Given the description of an element on the screen output the (x, y) to click on. 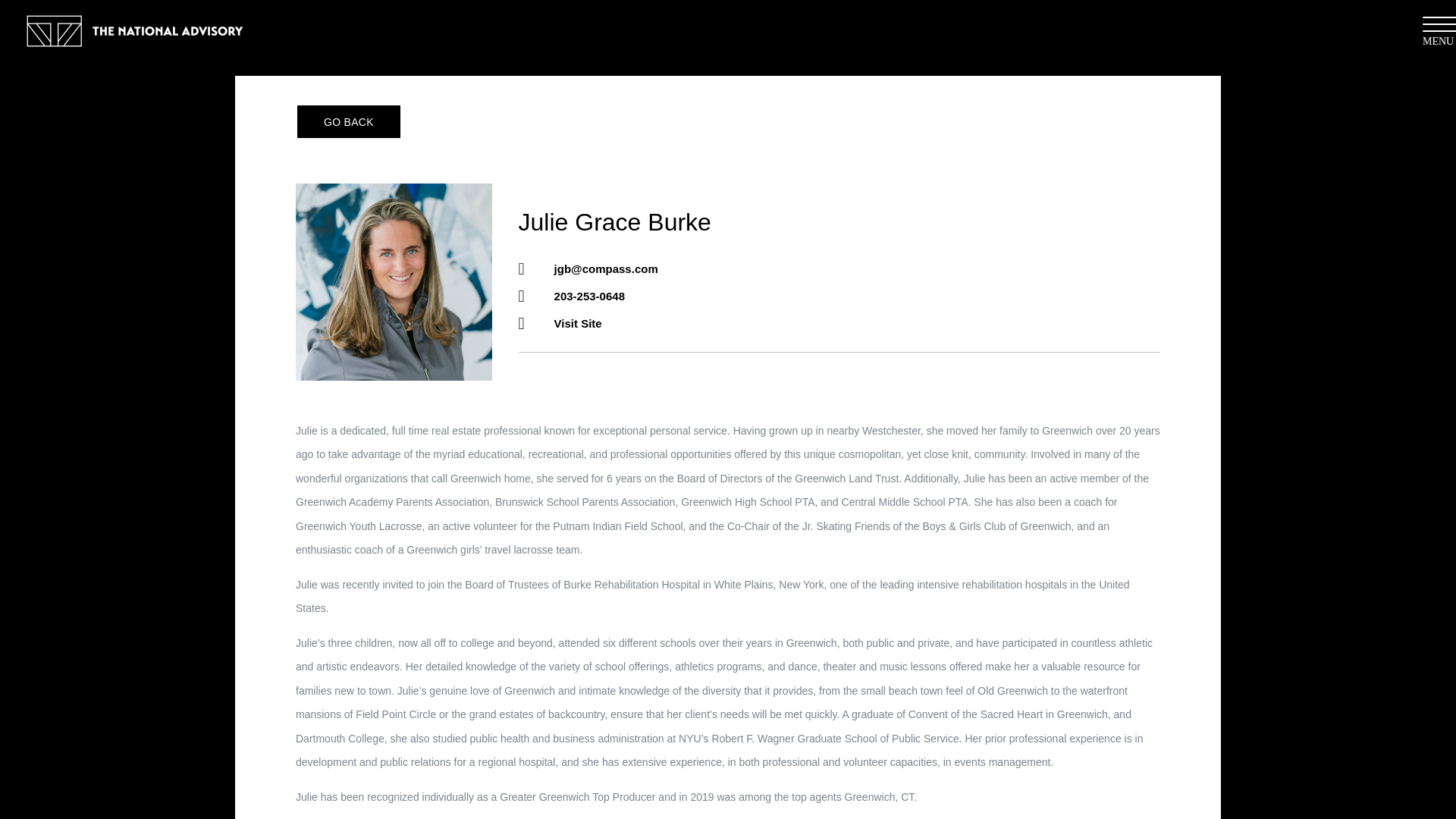
Visit Site (578, 323)
203-253-0648 (589, 295)
GO BACK (348, 122)
